Given the description of an element on the screen output the (x, y) to click on. 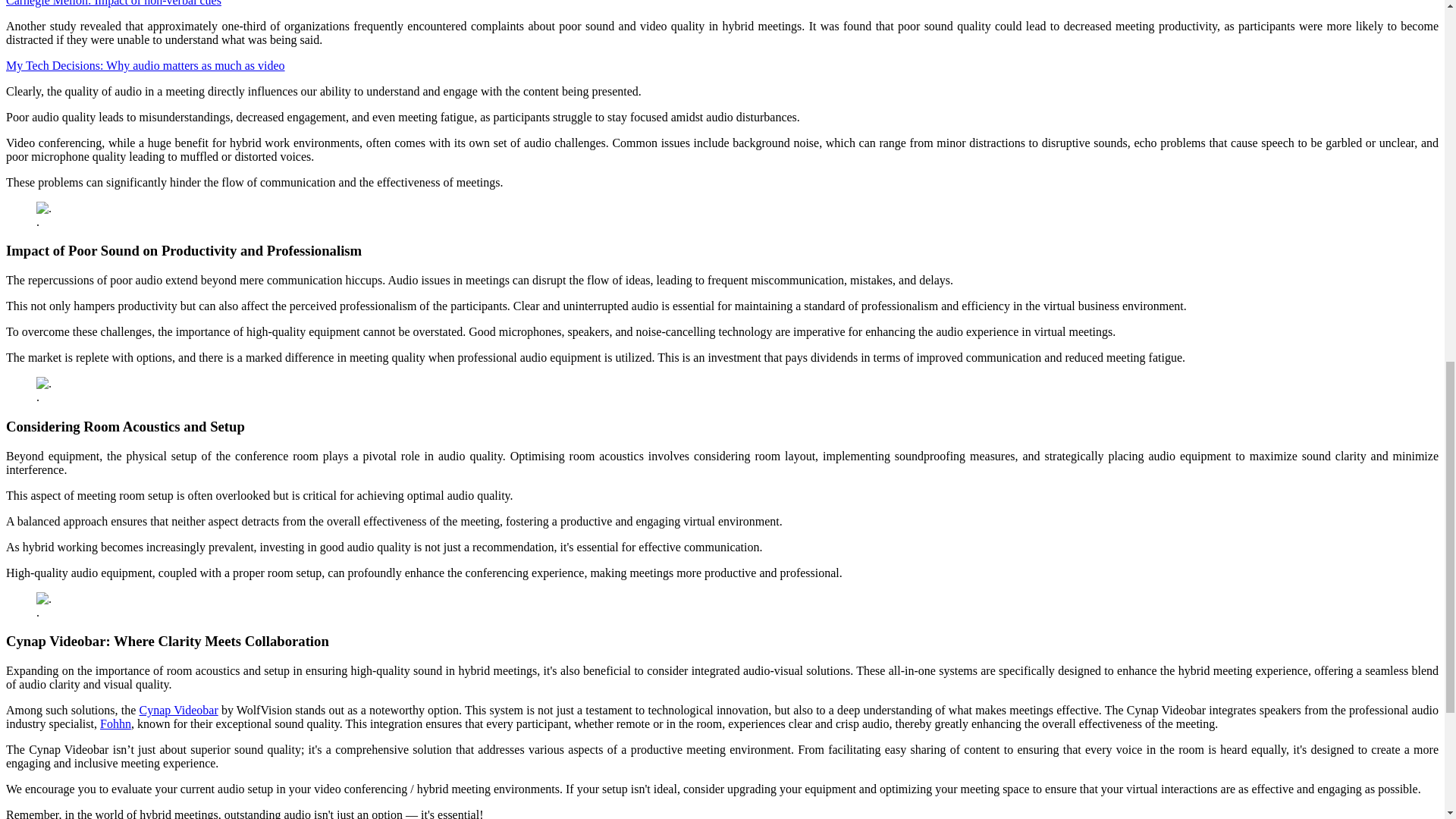
. (43, 208)
. (43, 383)
Fohhn (115, 723)
Carnegie Mellon: Impact of non-verbal cues (113, 3)
. (43, 599)
My Tech Decisions: Why audio matters as much as video (145, 65)
Cynap Videobar (177, 709)
Cynap Videobar (177, 709)
